Given the description of an element on the screen output the (x, y) to click on. 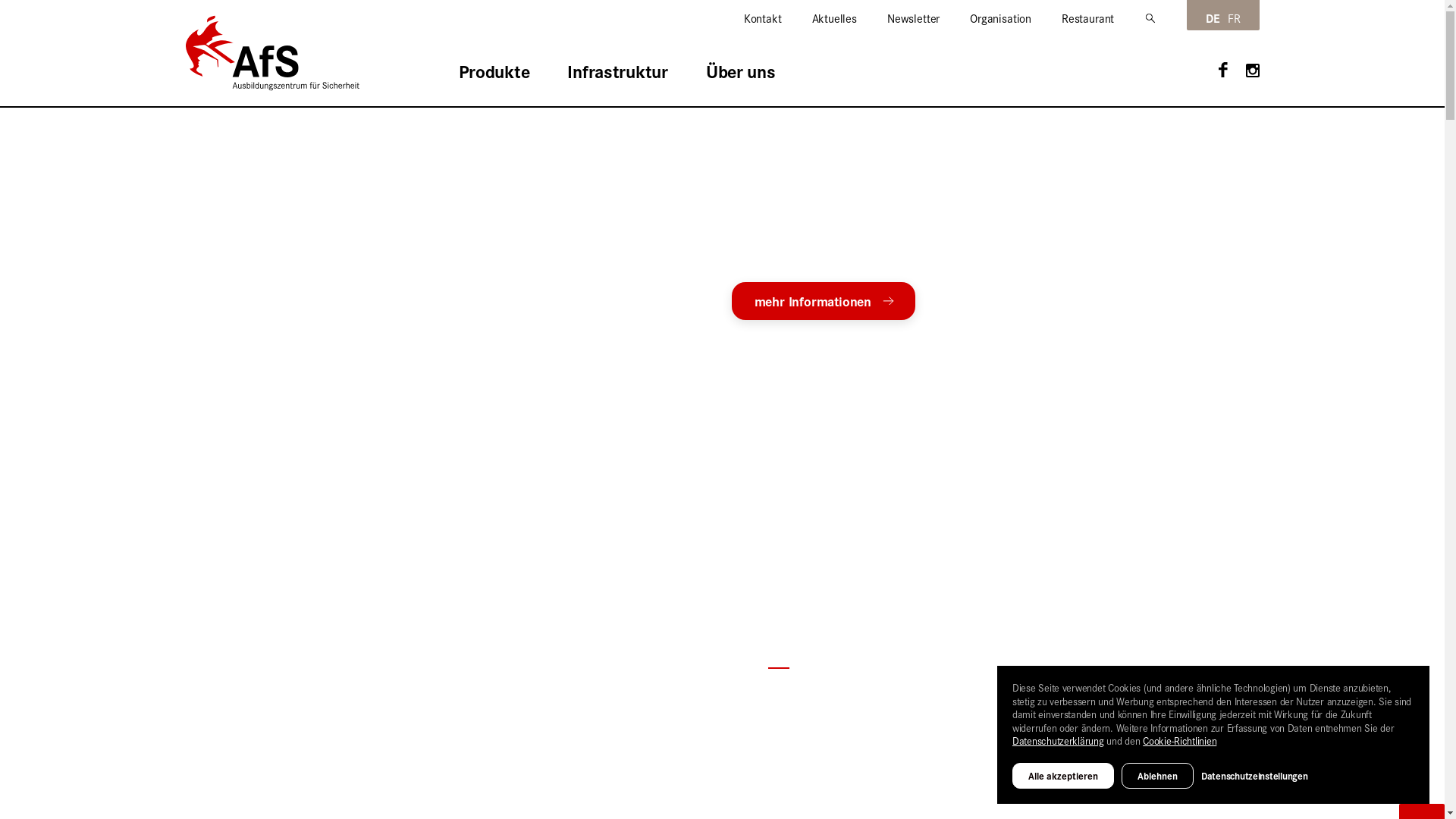
Kontakt Element type: text (762, 15)
Restaurant Element type: text (1087, 15)
FR Element type: text (1233, 15)
Ablehnen Element type: text (1157, 775)
Aktuelles Element type: text (834, 15)
instagram Element type: text (1251, 72)
Produkte Element type: text (493, 71)
Alle akzeptieren Element type: text (1062, 775)
Newsletter Element type: text (913, 15)
Cookie-Richtlinien Element type: text (1179, 739)
DE Element type: text (1212, 15)
Organisation Element type: text (1000, 15)
Infrastruktur Element type: text (617, 71)
facebook Element type: text (1221, 71)
Datenschutzeinstellungen Element type: text (1307, 775)
weitere Informationen Element type: text (829, 301)
